Given the description of an element on the screen output the (x, y) to click on. 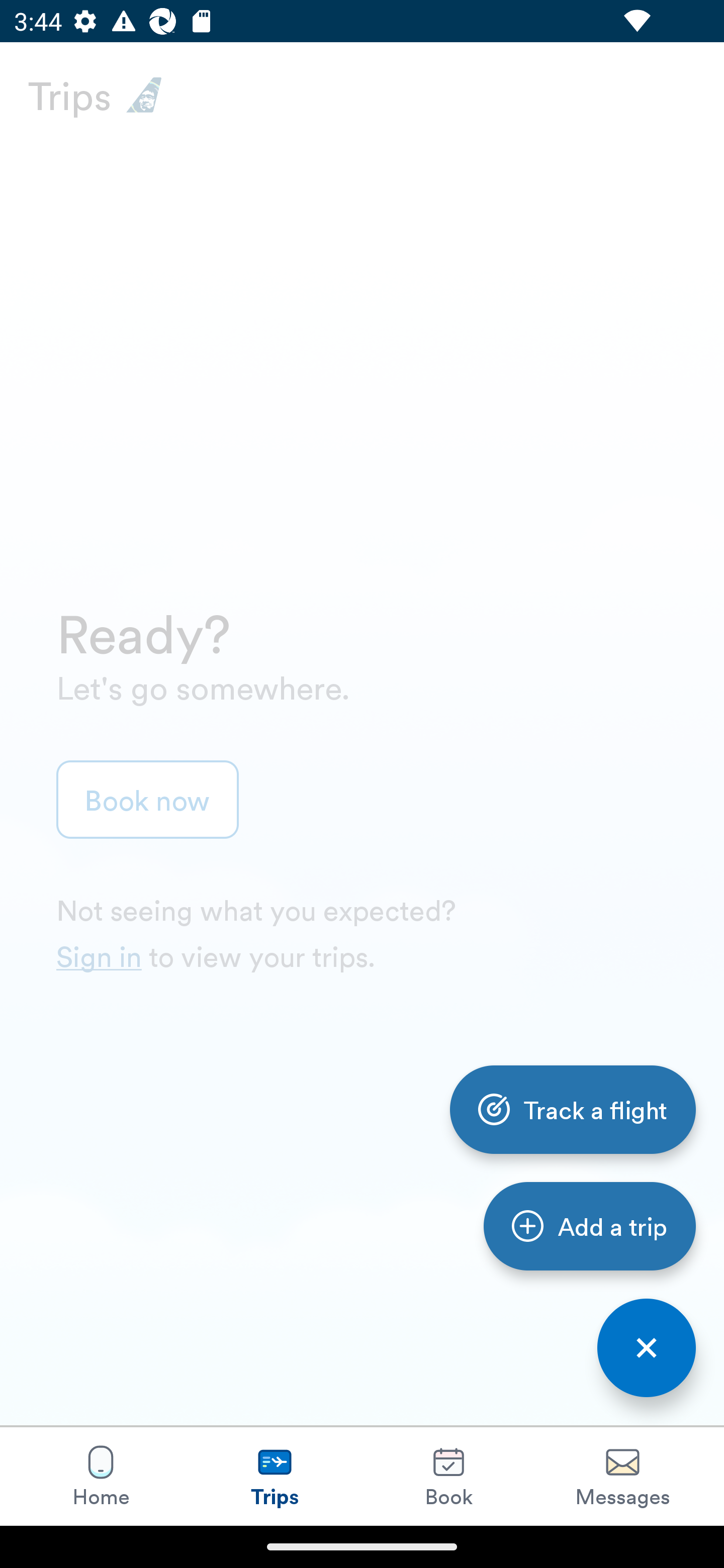
Track a flight (572, 1109)
Add a trip (589, 1226)
Home (100, 1475)
Trips (275, 1475)
Book (448, 1475)
Messages (622, 1475)
